Given the description of an element on the screen output the (x, y) to click on. 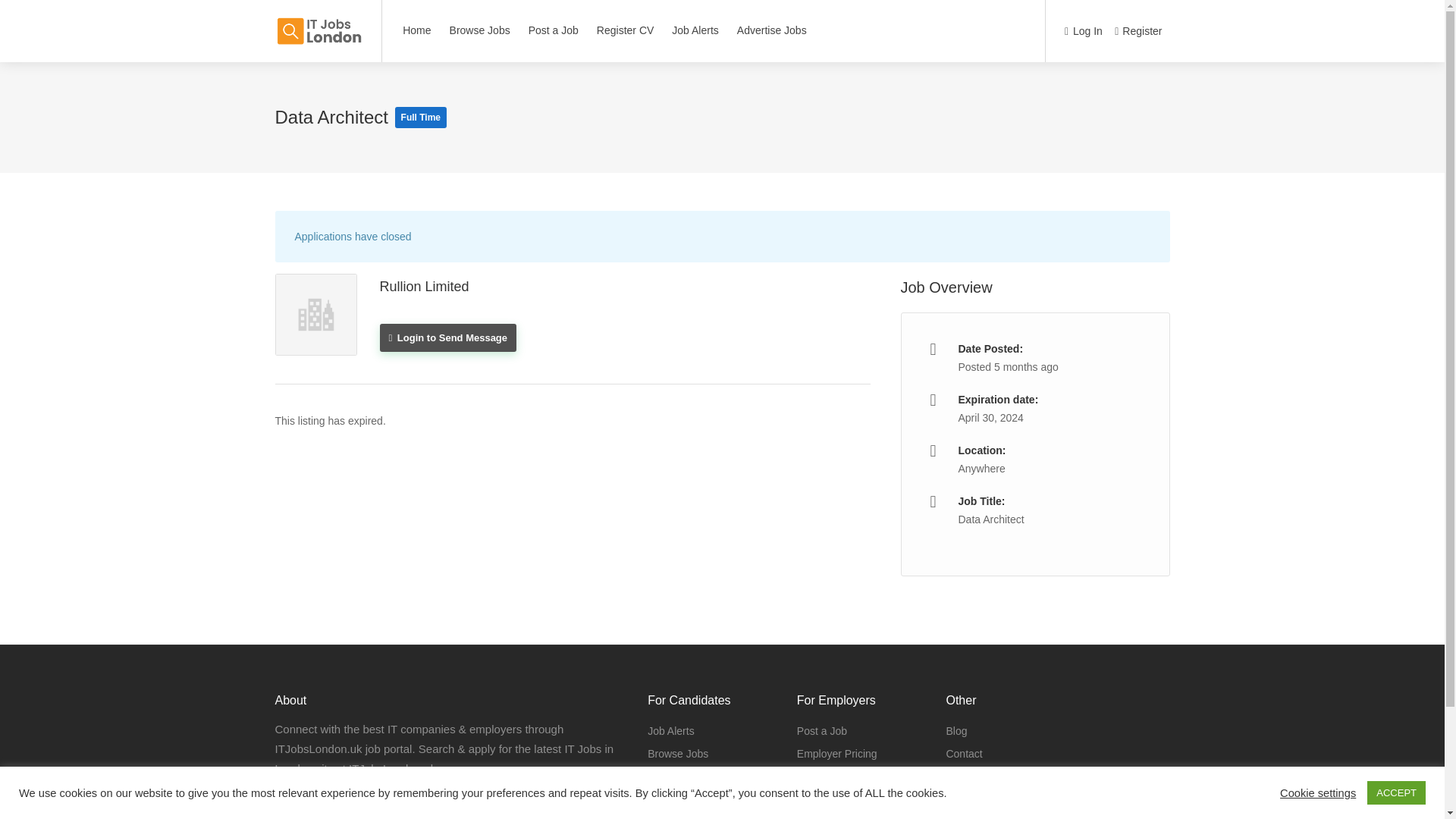
Browse Jobs (323, 804)
IT Jobs London (318, 22)
ACCEPT (1396, 792)
Employer Pricing (836, 753)
Cookie settings (1317, 792)
Candidate Dashboard (699, 815)
Login to Send Message (447, 337)
Post a Job (821, 731)
Contact (962, 753)
Home (416, 30)
